Given the description of an element on the screen output the (x, y) to click on. 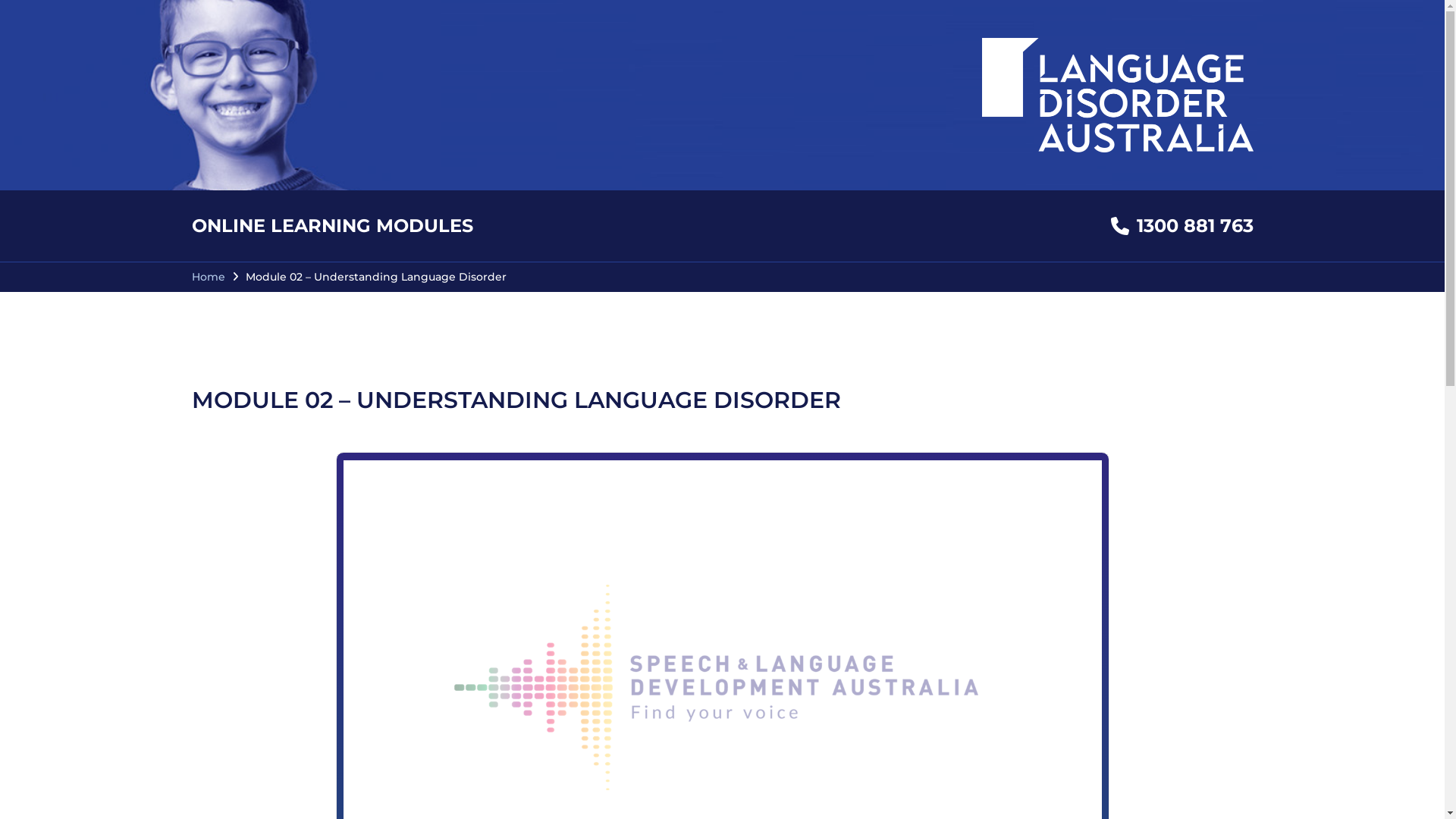
Home Element type: text (207, 276)
1300 881 763 Element type: text (1181, 225)
Online Learning Modules | Language Disorder Australia Element type: text (1116, 94)
